Given the description of an element on the screen output the (x, y) to click on. 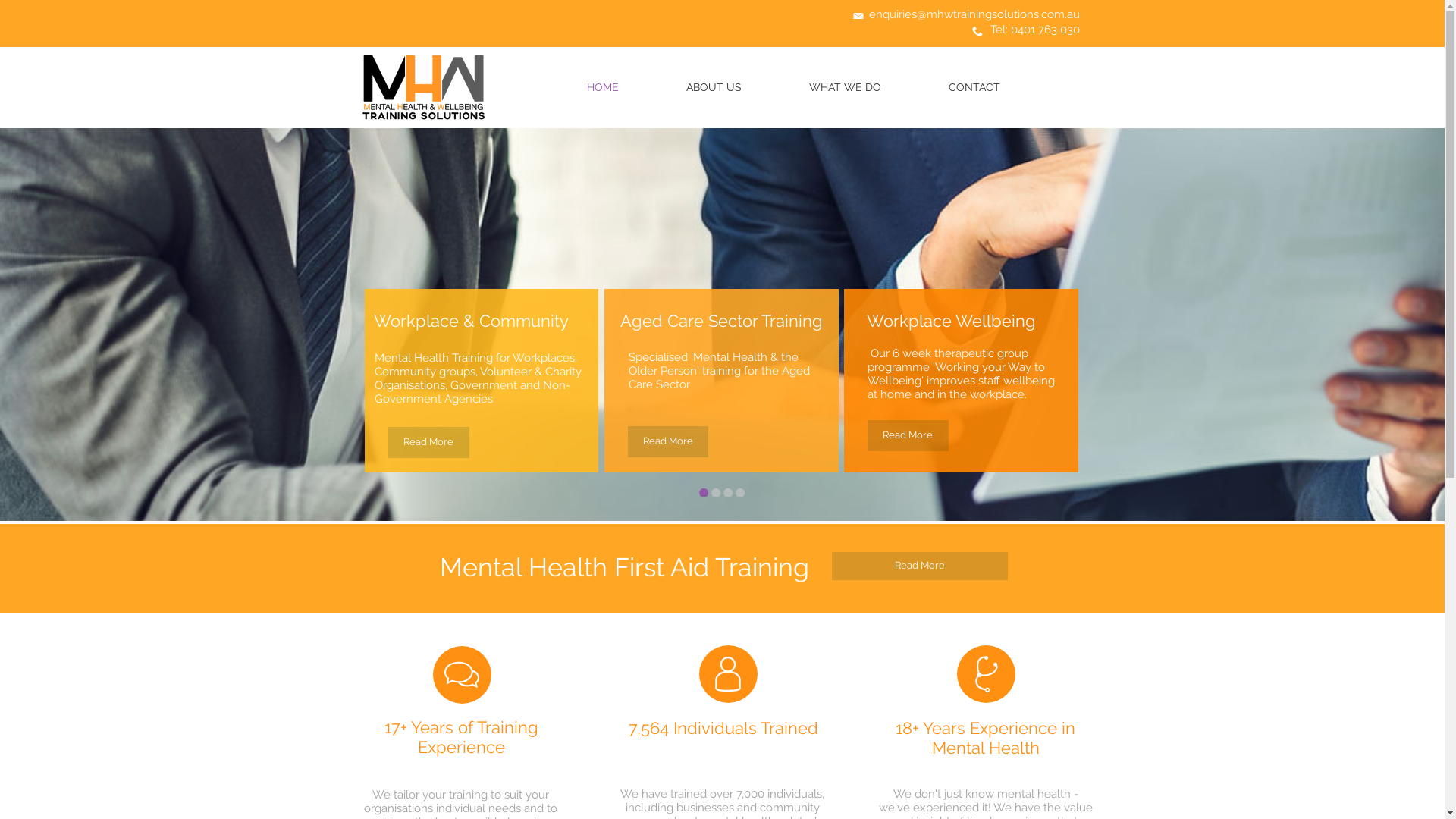
CONTACT Element type: text (973, 87)
Read More Element type: text (428, 442)
ABOUT US Element type: text (713, 87)
Read More Element type: text (919, 566)
HOME Element type: text (602, 87)
Read More Element type: text (907, 435)
Read More Element type: text (667, 441)
WHAT WE DO Element type: text (844, 87)
enquiries@mhwtrainingsolutions.com.au Element type: text (974, 14)
